Given the description of an element on the screen output the (x, y) to click on. 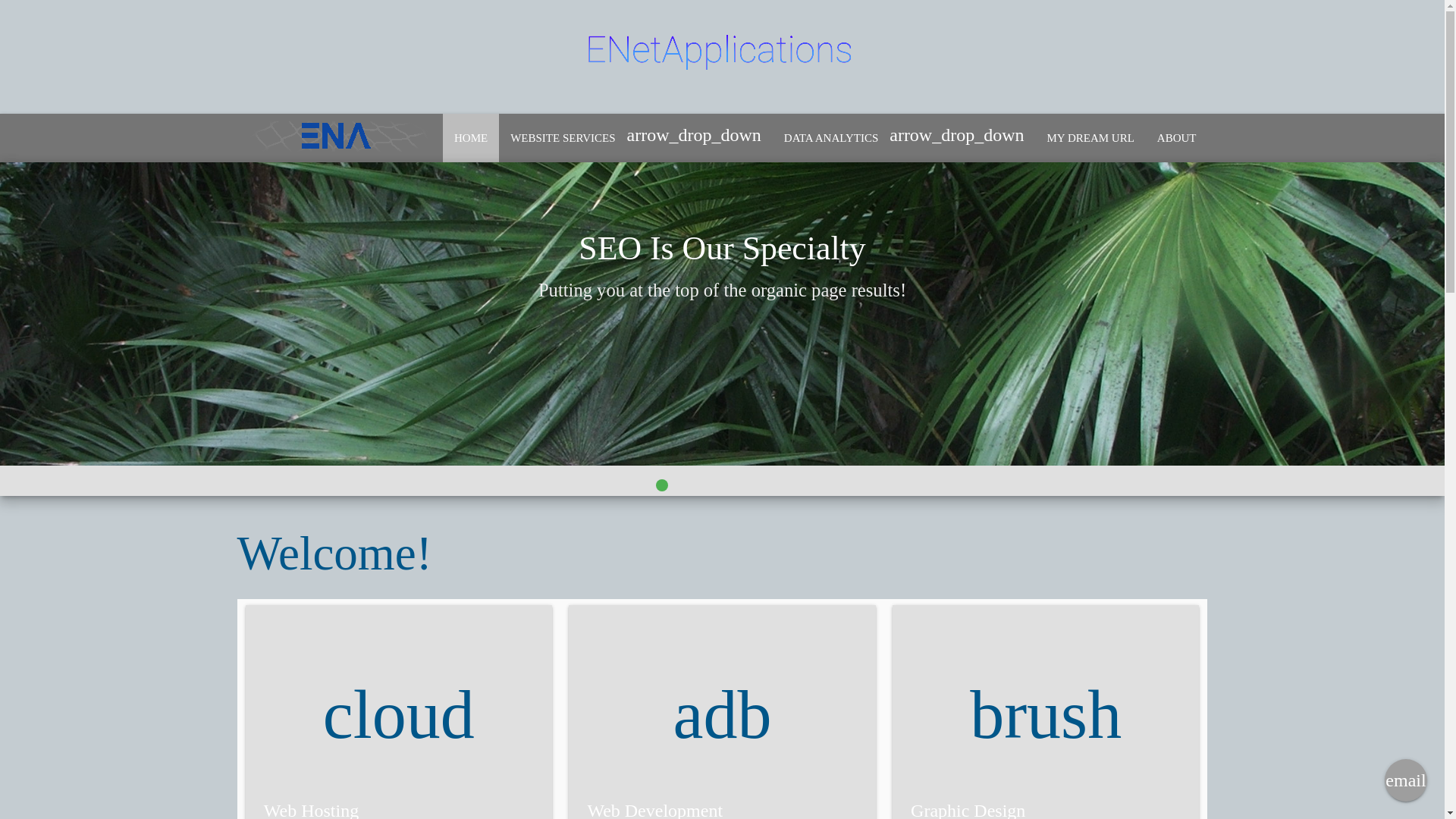
MY DREAM URL (1090, 137)
Click to send us an email! (1405, 774)
HOME (470, 137)
ABOUT (1176, 137)
email (1405, 780)
